Given the description of an element on the screen output the (x, y) to click on. 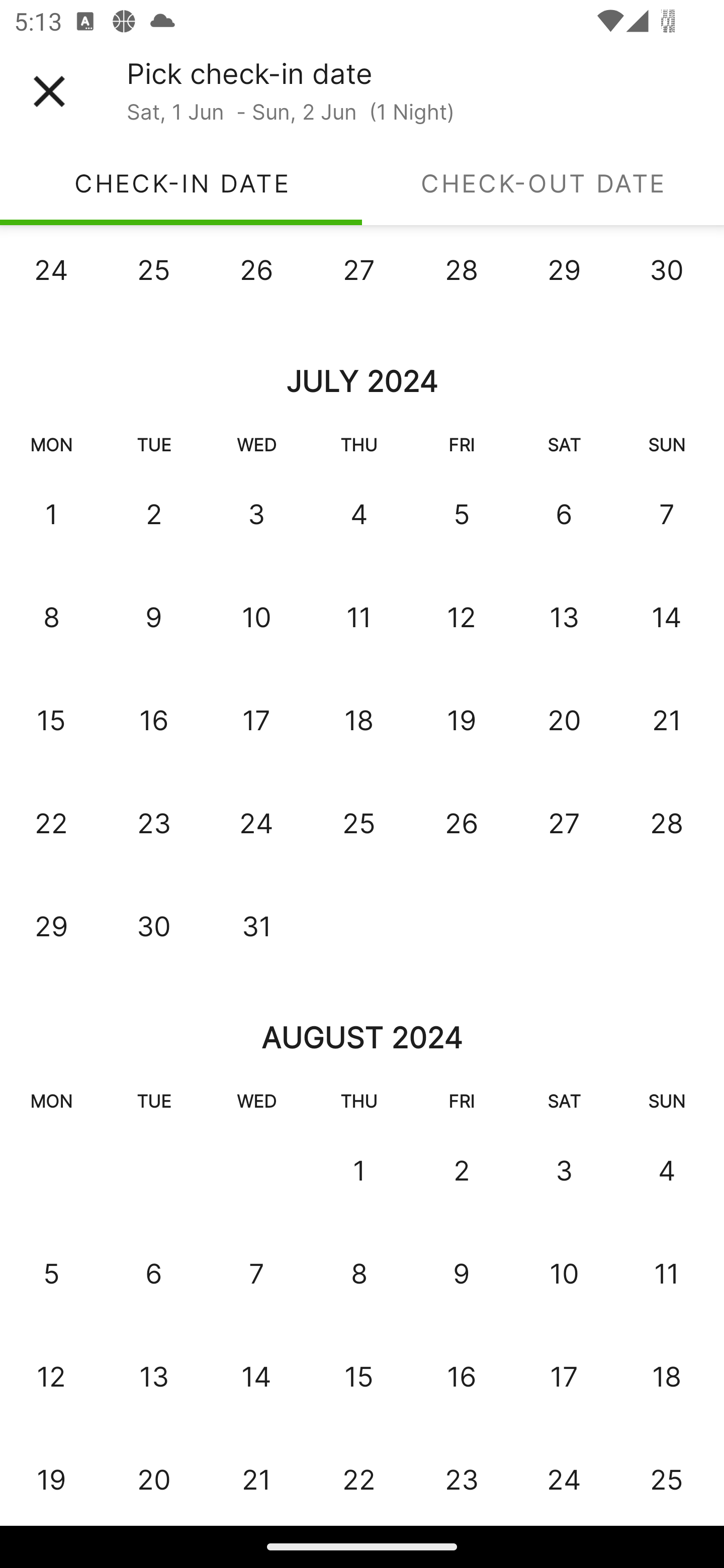
Check-out Date CHECK-OUT DATE (543, 183)
